Given the description of an element on the screen output the (x, y) to click on. 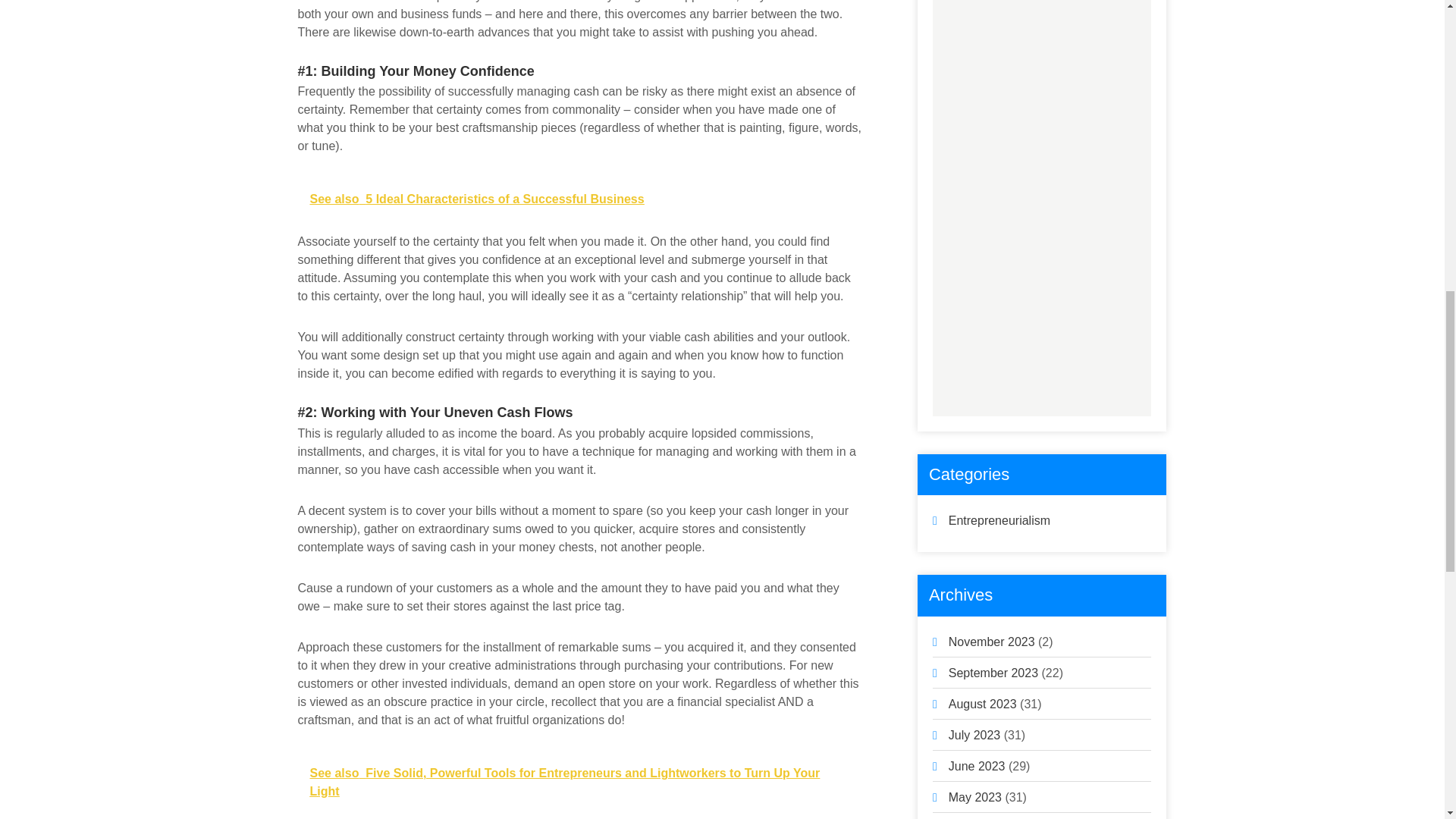
June 2023 (977, 766)
September 2023 (993, 672)
May 2023 (975, 797)
November 2023 (992, 641)
See also  5 Ideal Characteristics of a Successful Business (580, 199)
July 2023 (975, 735)
Entrepreneurialism (999, 520)
August 2023 (982, 703)
